Given the description of an element on the screen output the (x, y) to click on. 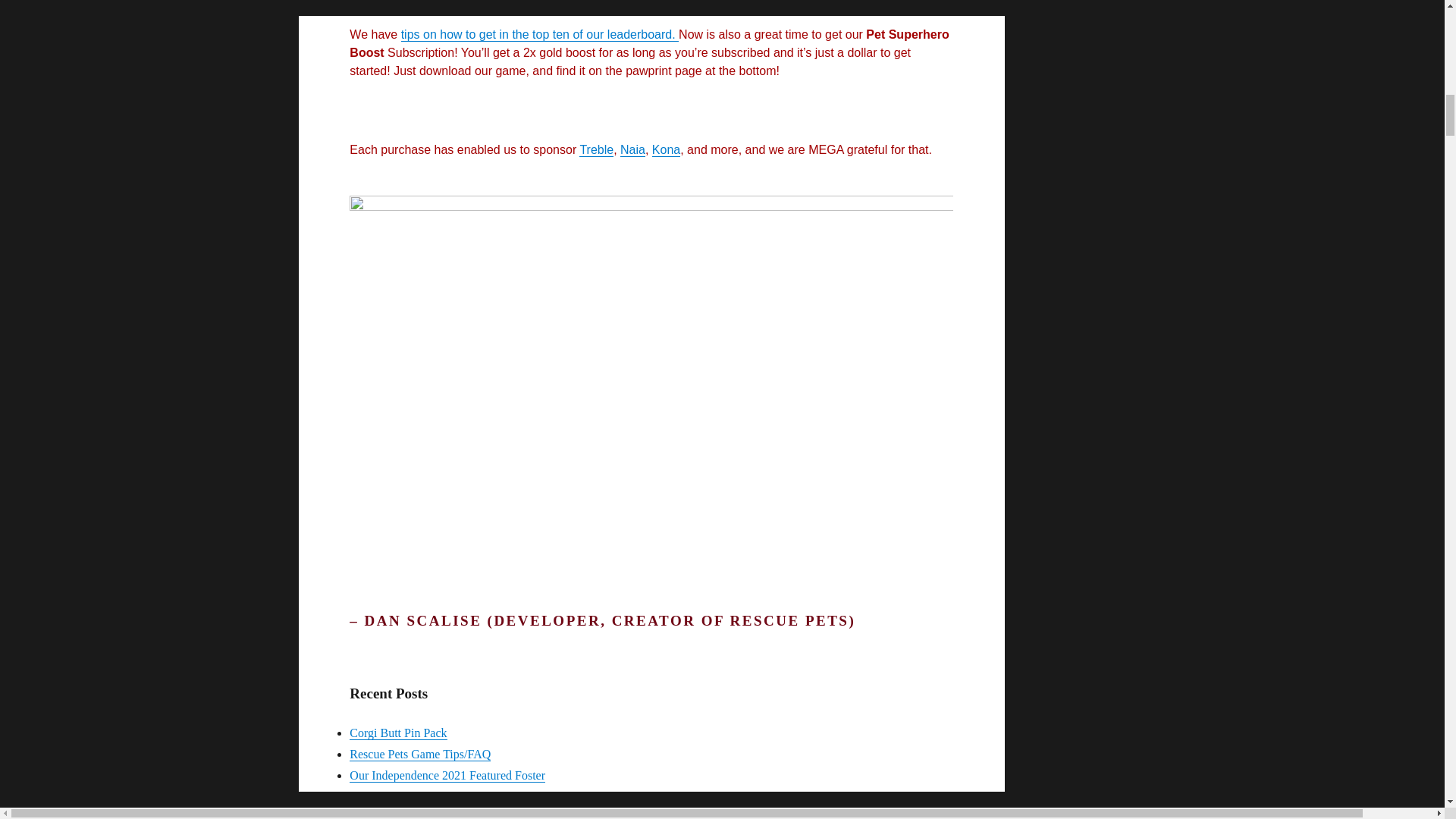
Corgi Butt Pin Pack (397, 732)
Our Independence 2021 Featured Foster (446, 775)
tips on how to get in the top ten of our leaderboard.  (539, 33)
Naia (632, 149)
Treble (595, 149)
How to Master Rescue Pets Event Leaderboards (466, 815)
Kona (665, 149)
Support Rescue Pets On Patreon (651, 5)
Our July 4th Featured Foster (419, 796)
